Given the description of an element on the screen output the (x, y) to click on. 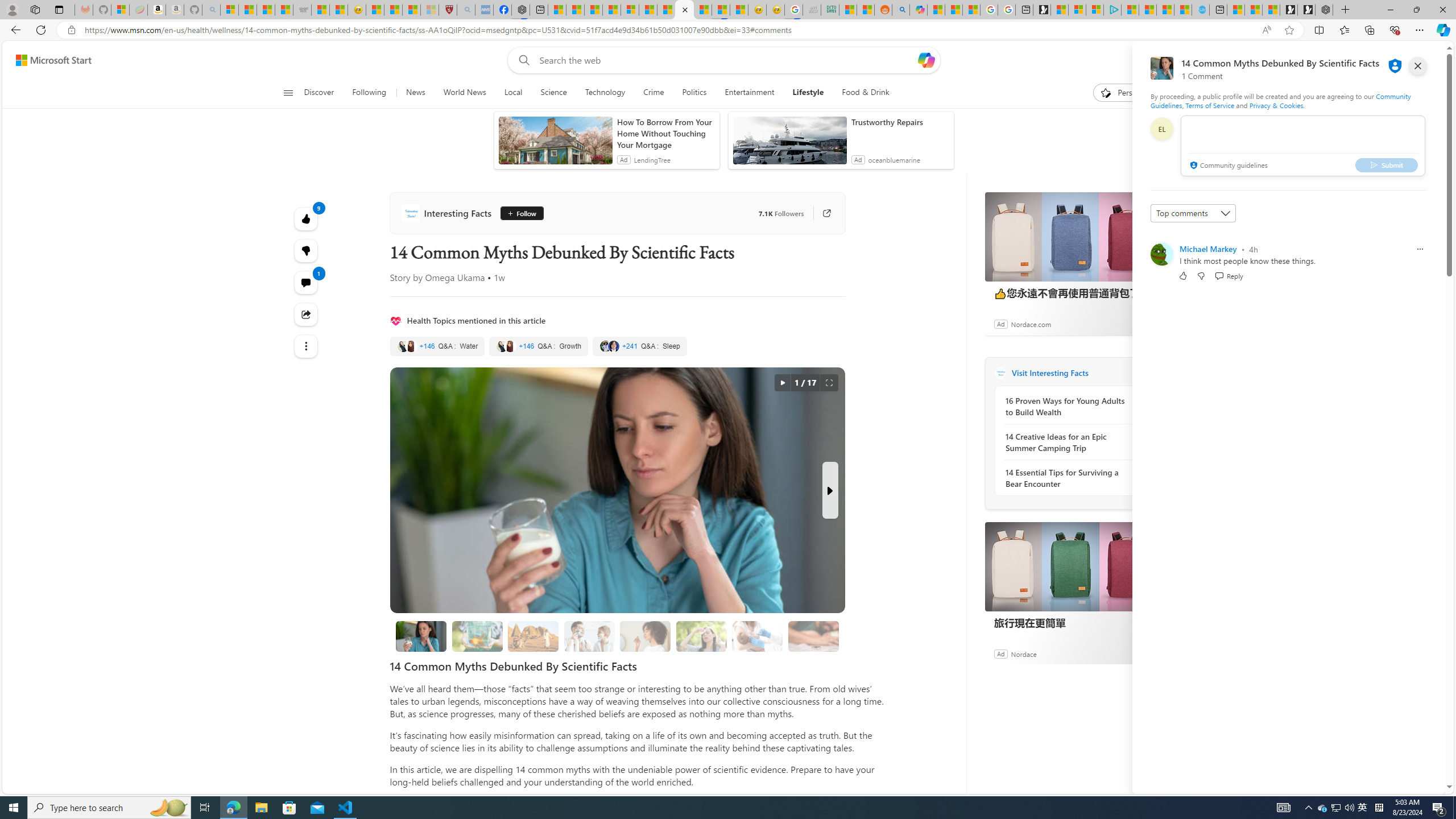
Food & Drink (865, 92)
anim-content (789, 144)
3. Extreme Heat and Humidity (701, 636)
Home | Sky Blue Bikes - Sky Blue Bikes (1200, 9)
World News (464, 92)
Full screen (828, 382)
Nordace.com (1030, 323)
